Given the description of an element on the screen output the (x, y) to click on. 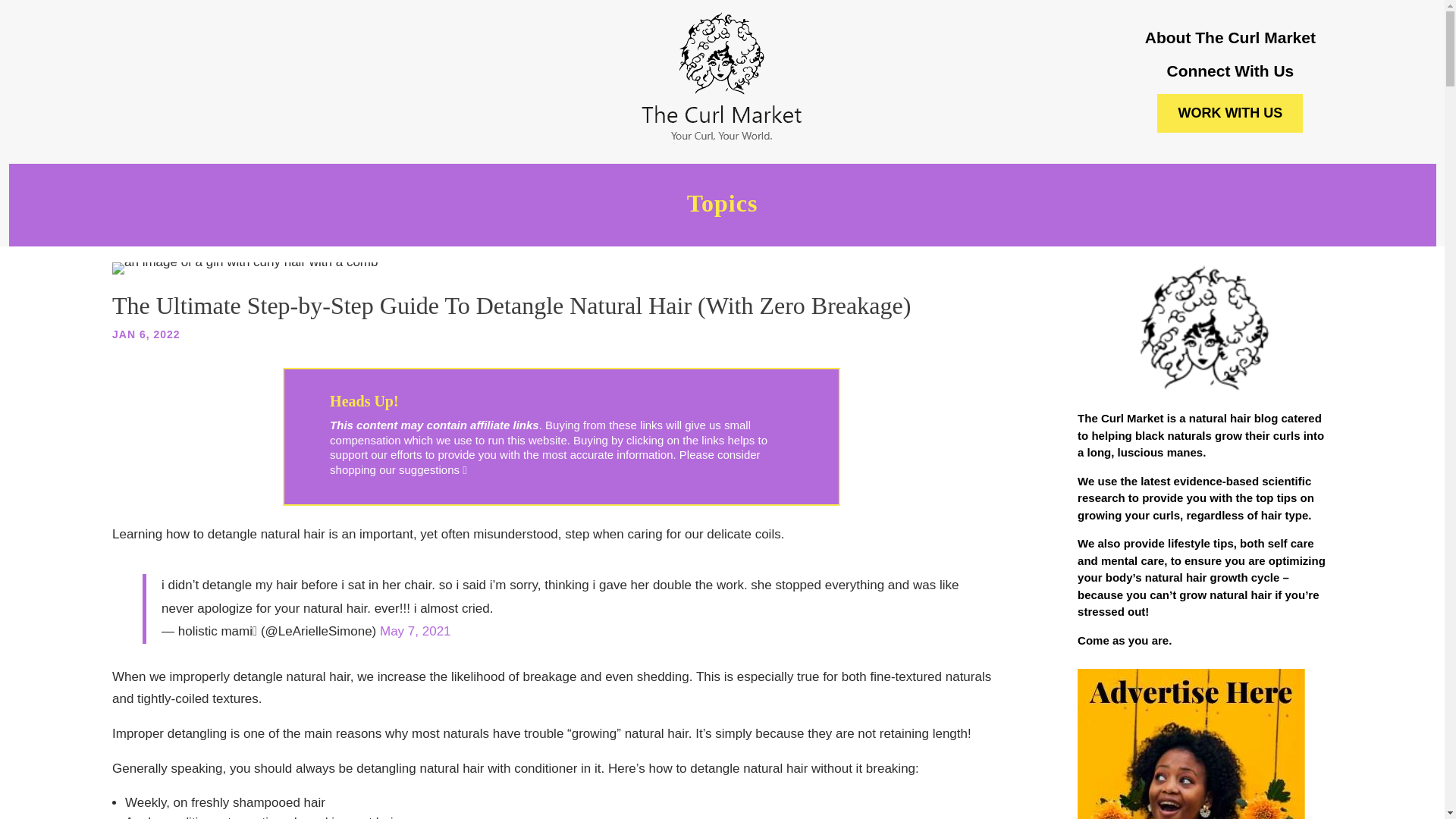
WORK WITH US (1230, 113)
Topics (722, 208)
TTCM Logo (722, 77)
how to detangle natural hair (244, 268)
About The Curl Market (1230, 36)
May 7, 2021 (415, 631)
To The Curl Market Icon (1204, 329)
Advertise With The Curl Market (1190, 744)
Connect With Us (1230, 70)
